Given the description of an element on the screen output the (x, y) to click on. 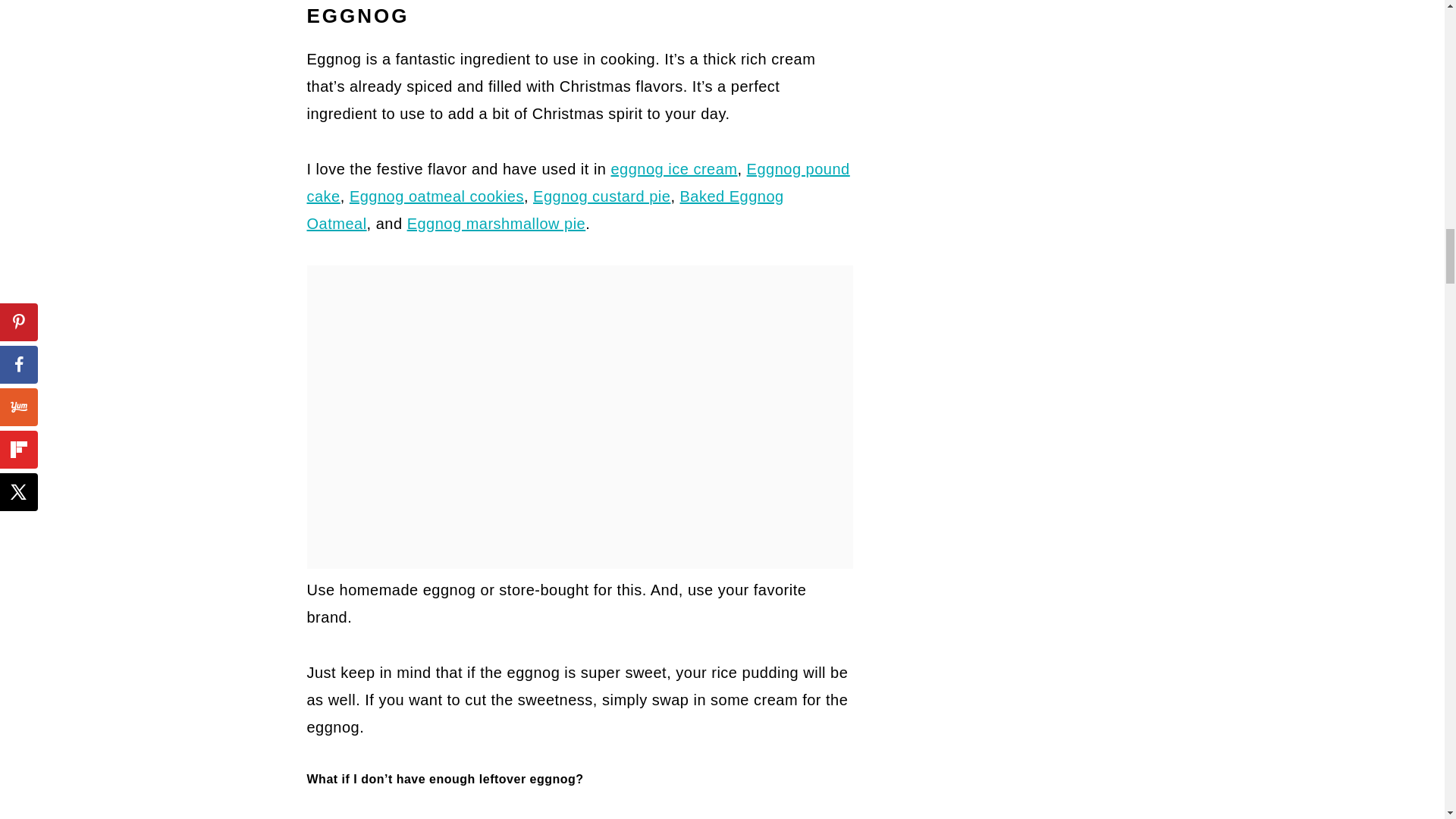
eggnog ice cream (674, 168)
Baked Eggnog Oatmeal (544, 209)
Eggnog oatmeal cookies (436, 196)
Eggnog pound cake (576, 182)
Eggnog custard pie (600, 196)
Eggnog marshmallow pie (496, 223)
